Given the description of an element on the screen output the (x, y) to click on. 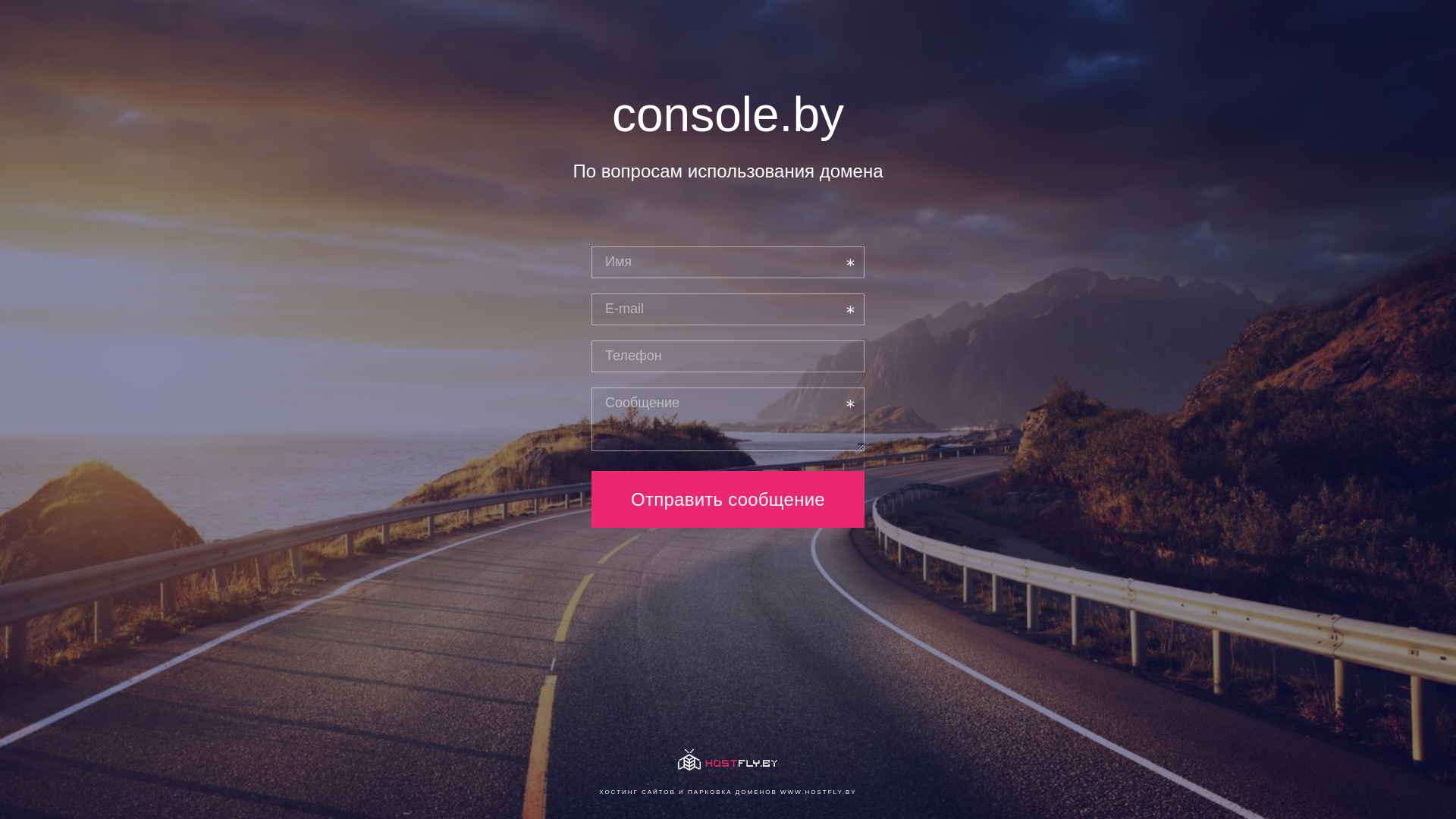
WWW.HOSTFLY.BY Element type: text (818, 791)
